Given the description of an element on the screen output the (x, y) to click on. 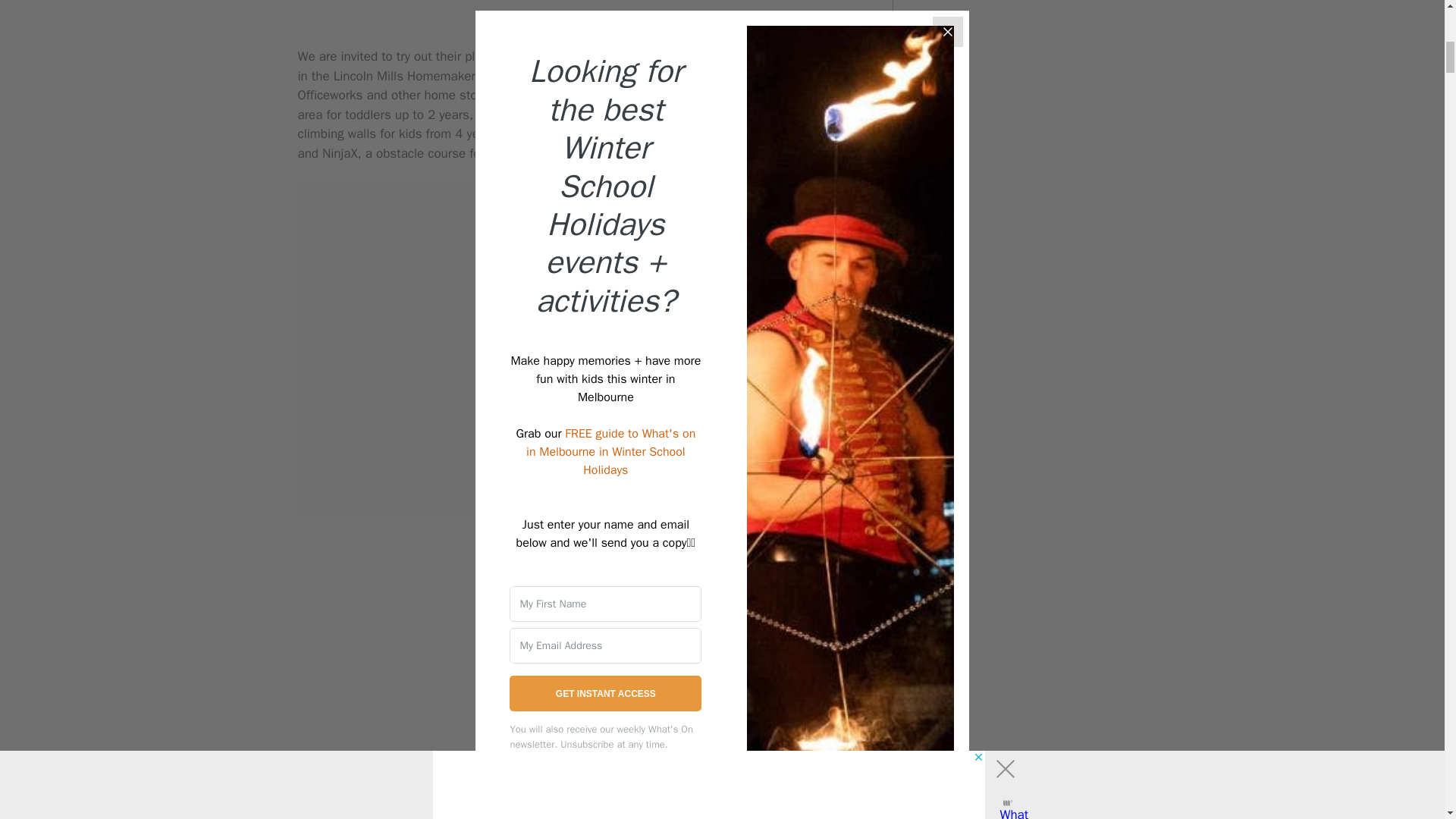
GoClimb (712, 56)
3rd party ad content (579, 277)
